Given the description of an element on the screen output the (x, y) to click on. 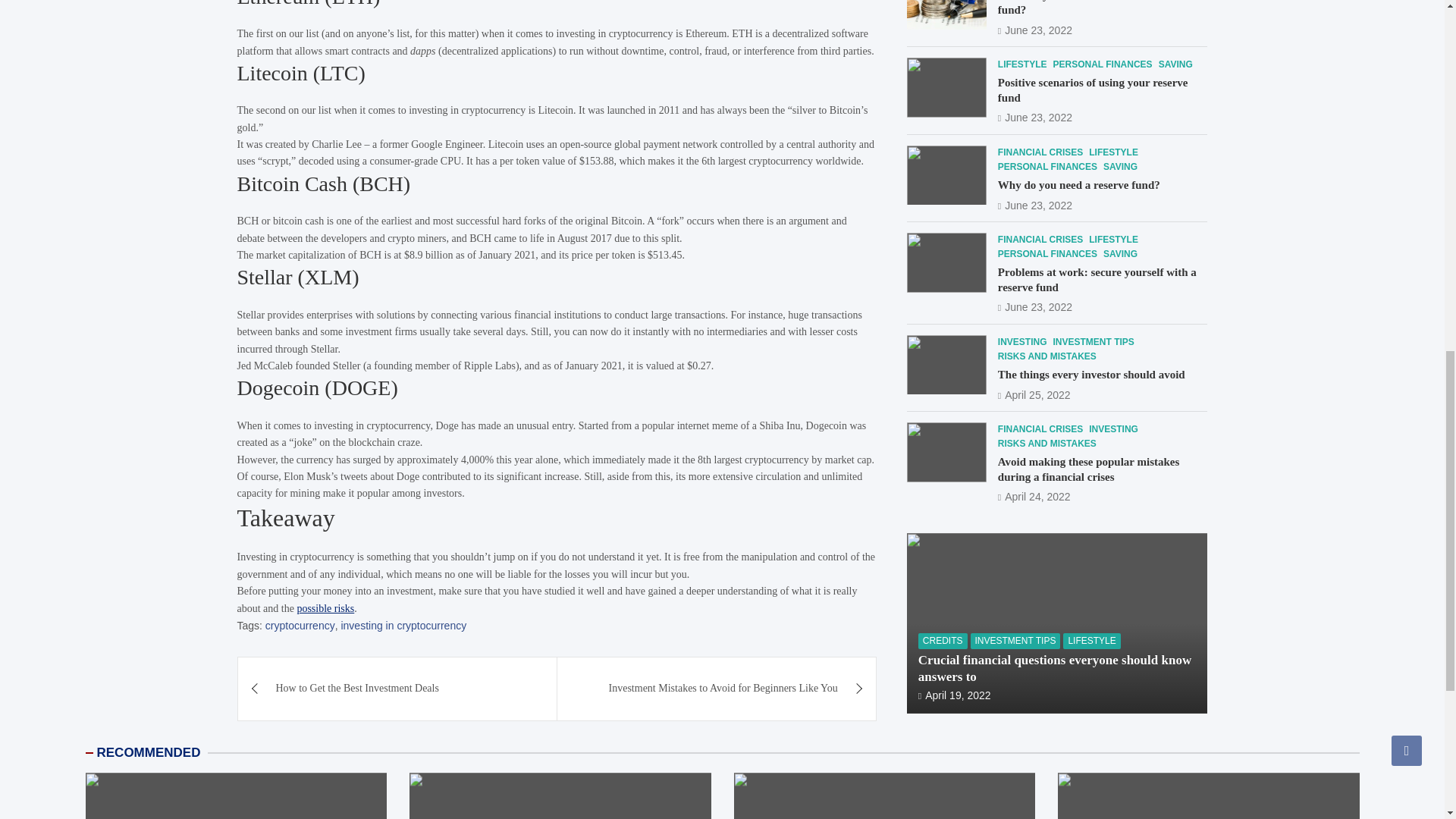
possible risks (325, 607)
How to Get the Best Investment Deals (397, 688)
Investment Mistakes to Avoid for Beginners Like You (716, 688)
investing in cryptocurrency (402, 625)
cryptocurrency (299, 625)
Crucial financial questions everyone should know answers to (954, 106)
